Given the description of an element on the screen output the (x, y) to click on. 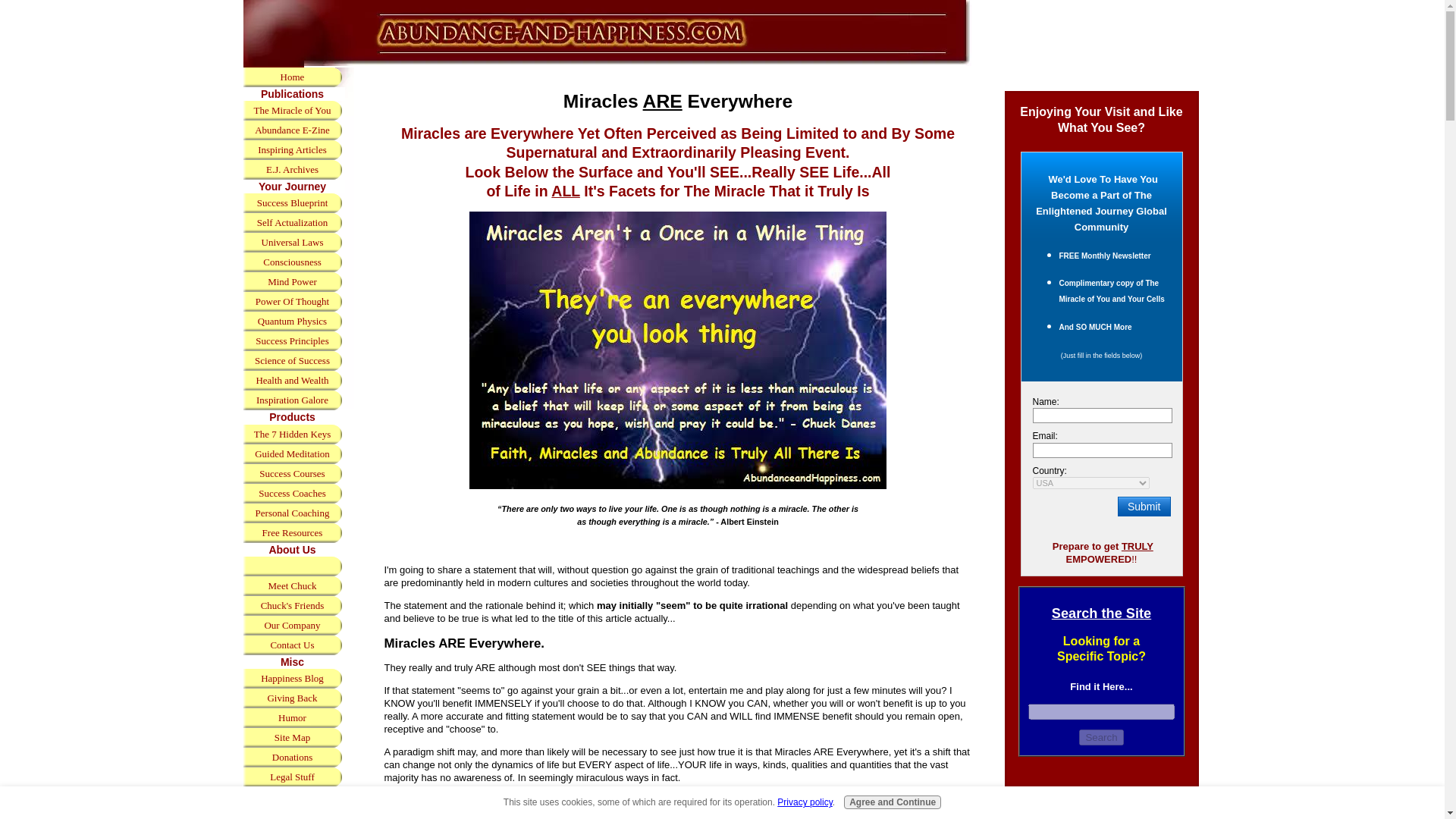
Our Company (291, 625)
Humor (291, 718)
E.J. Archives (291, 169)
Chuck's Friends (291, 605)
Home (291, 76)
Miracles are Everywhere (677, 349)
Donations (291, 757)
Health and Wealth (291, 380)
Mind Power (291, 281)
Guided Meditation (291, 454)
